Given the description of an element on the screen output the (x, y) to click on. 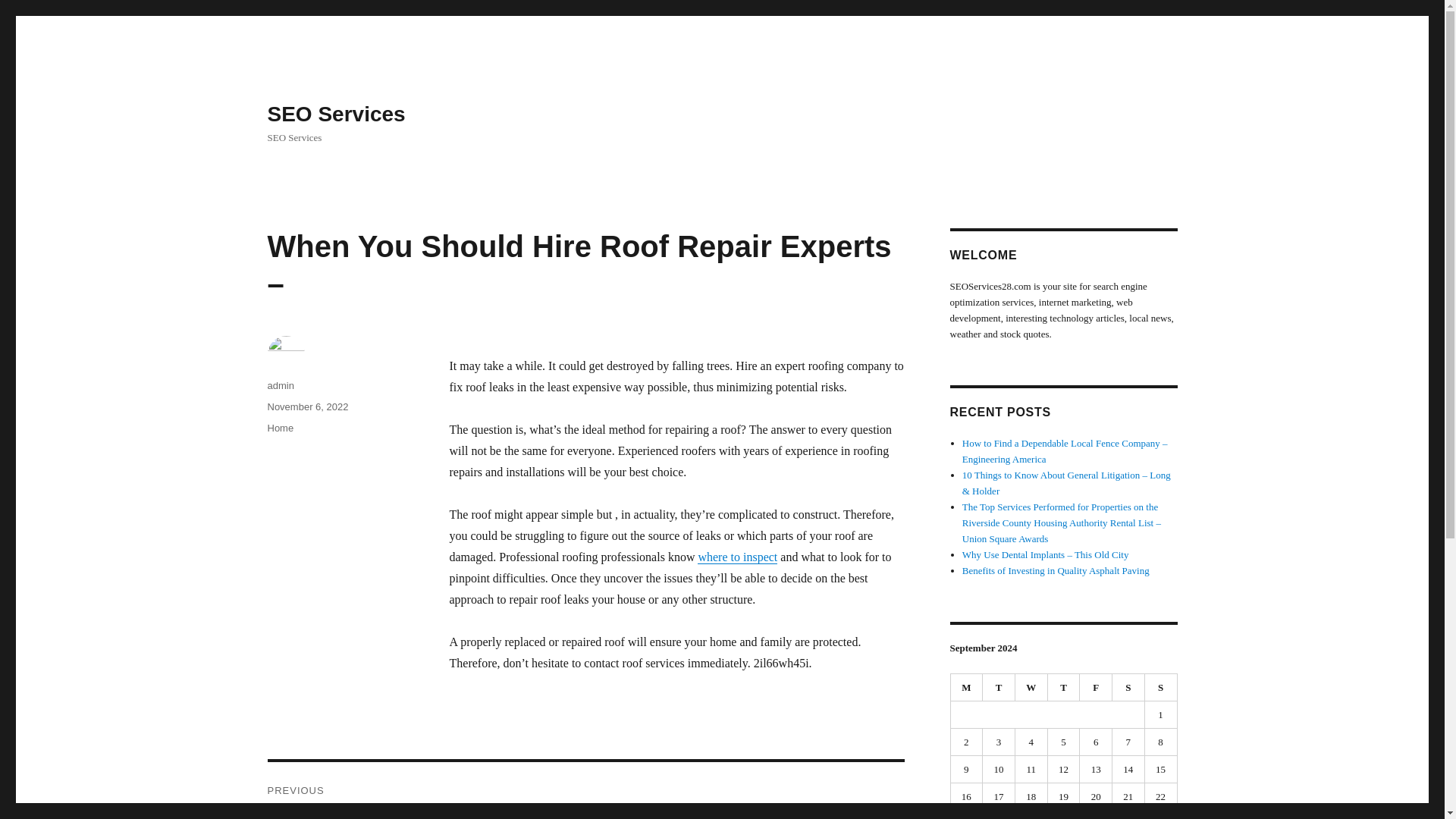
November 6, 2022 (306, 406)
Saturday (1128, 687)
SEO Services (335, 114)
Benefits of Investing in Quality Asphalt Paving (1056, 570)
where to inspect (737, 556)
Thursday (1064, 687)
Wednesday (1031, 687)
admin (280, 385)
Tuesday (998, 687)
Monday (967, 687)
